Given the description of an element on the screen output the (x, y) to click on. 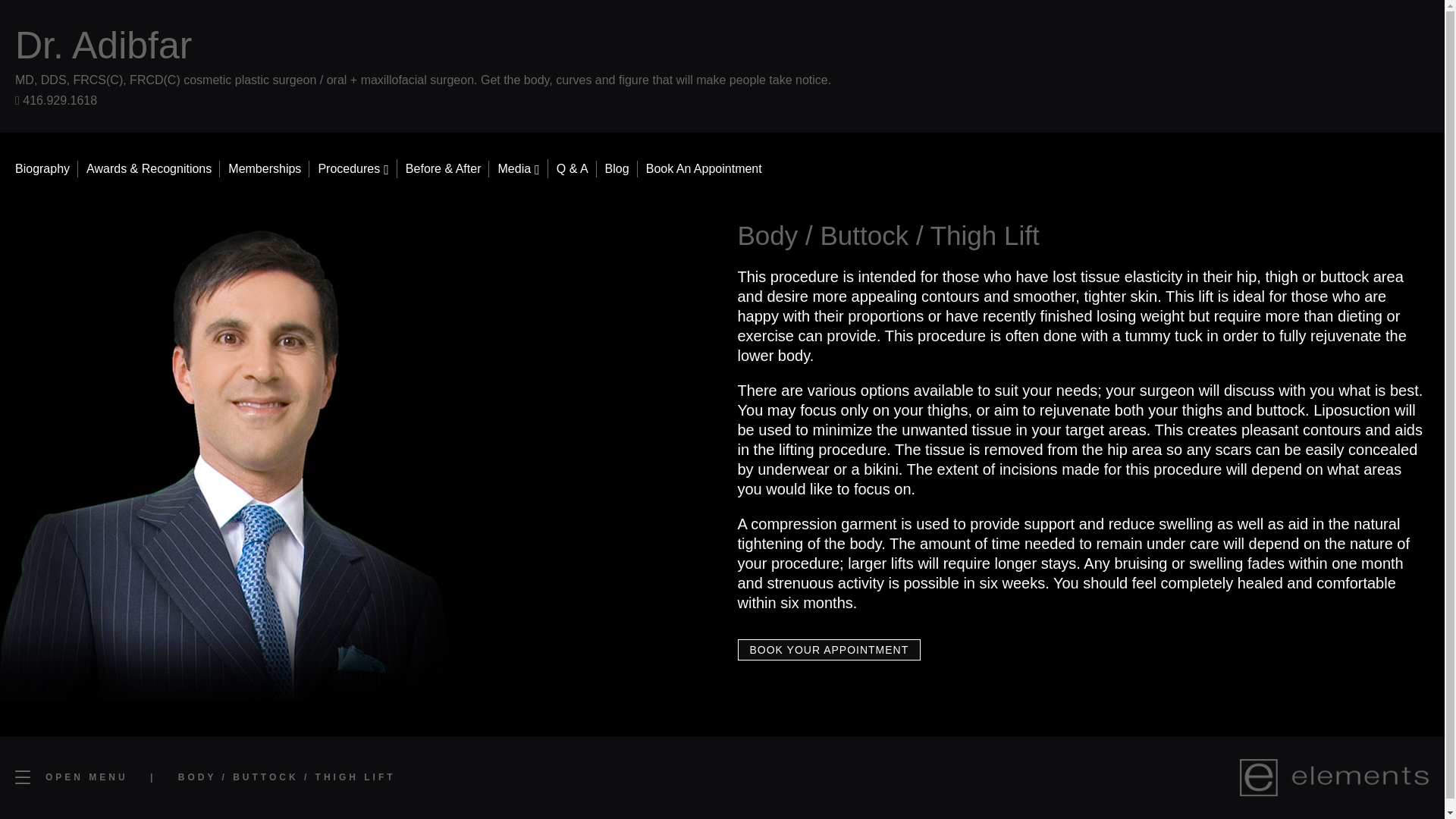
Procedures (352, 168)
Memberships (264, 168)
416.929.1618 (55, 100)
Biography (41, 168)
